Given the description of an element on the screen output the (x, y) to click on. 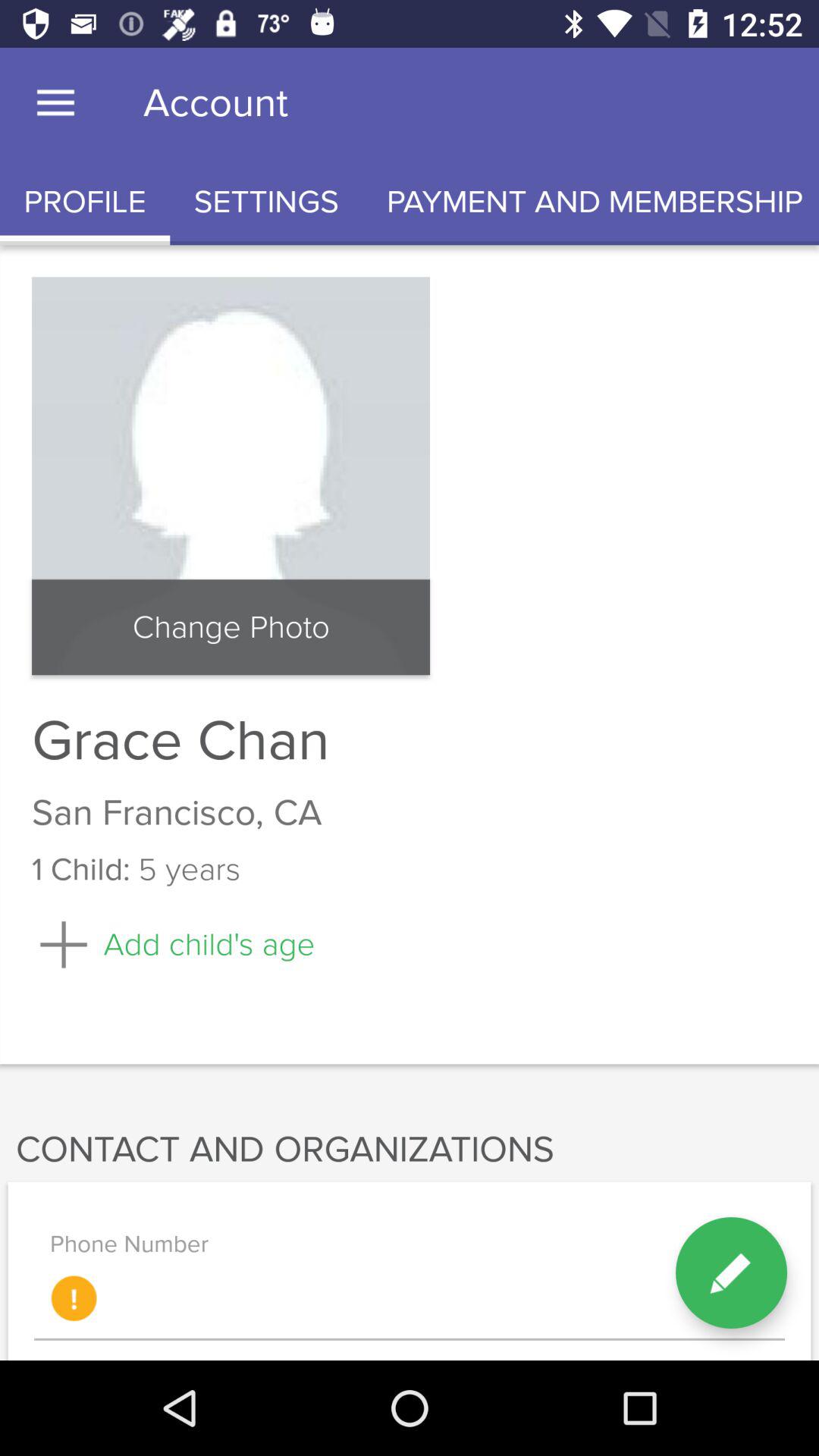
turn on icon below san francisco, ca icon (731, 1272)
